Given the description of an element on the screen output the (x, y) to click on. 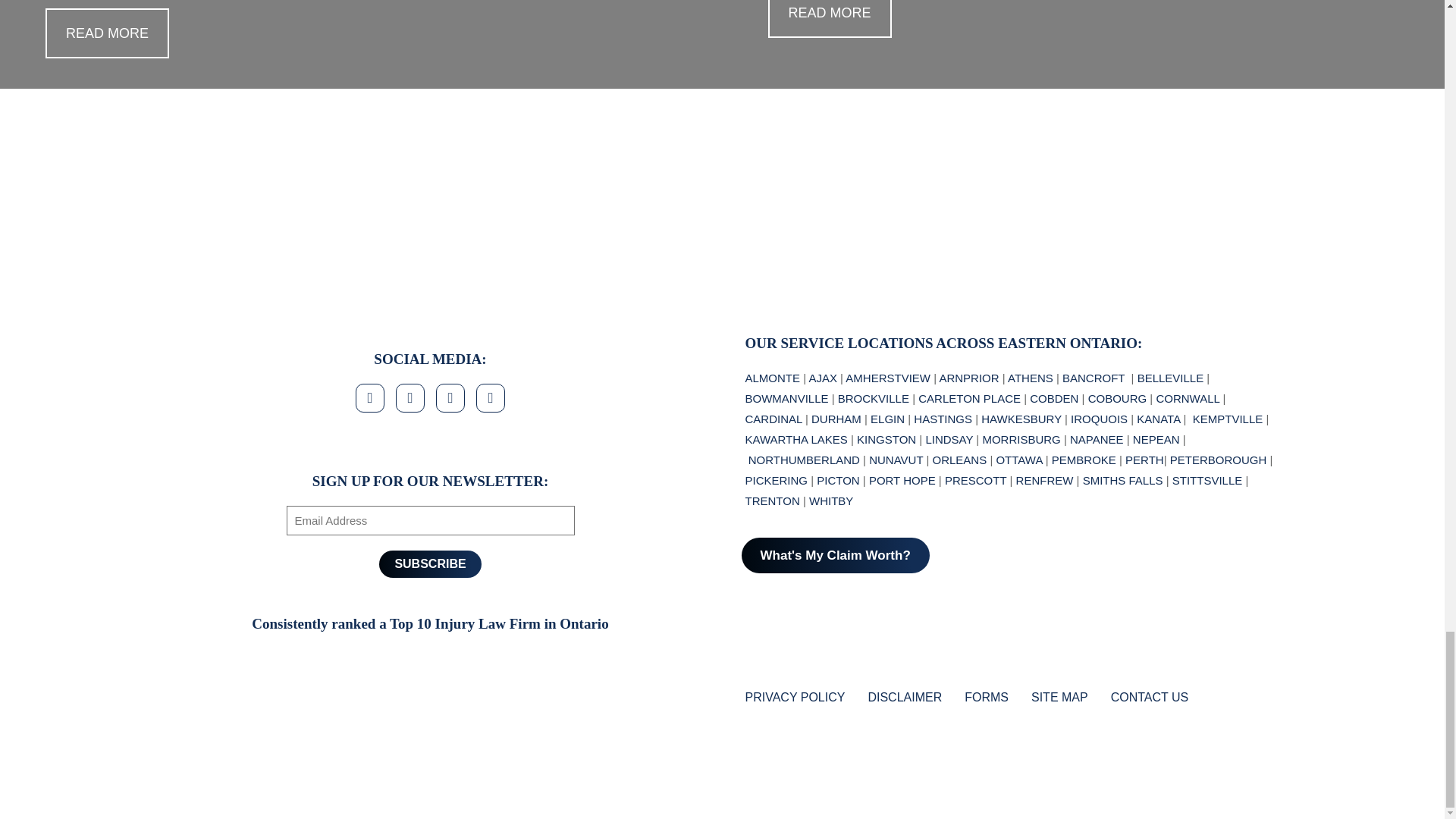
Subscribe (429, 564)
